Given the description of an element on the screen output the (x, y) to click on. 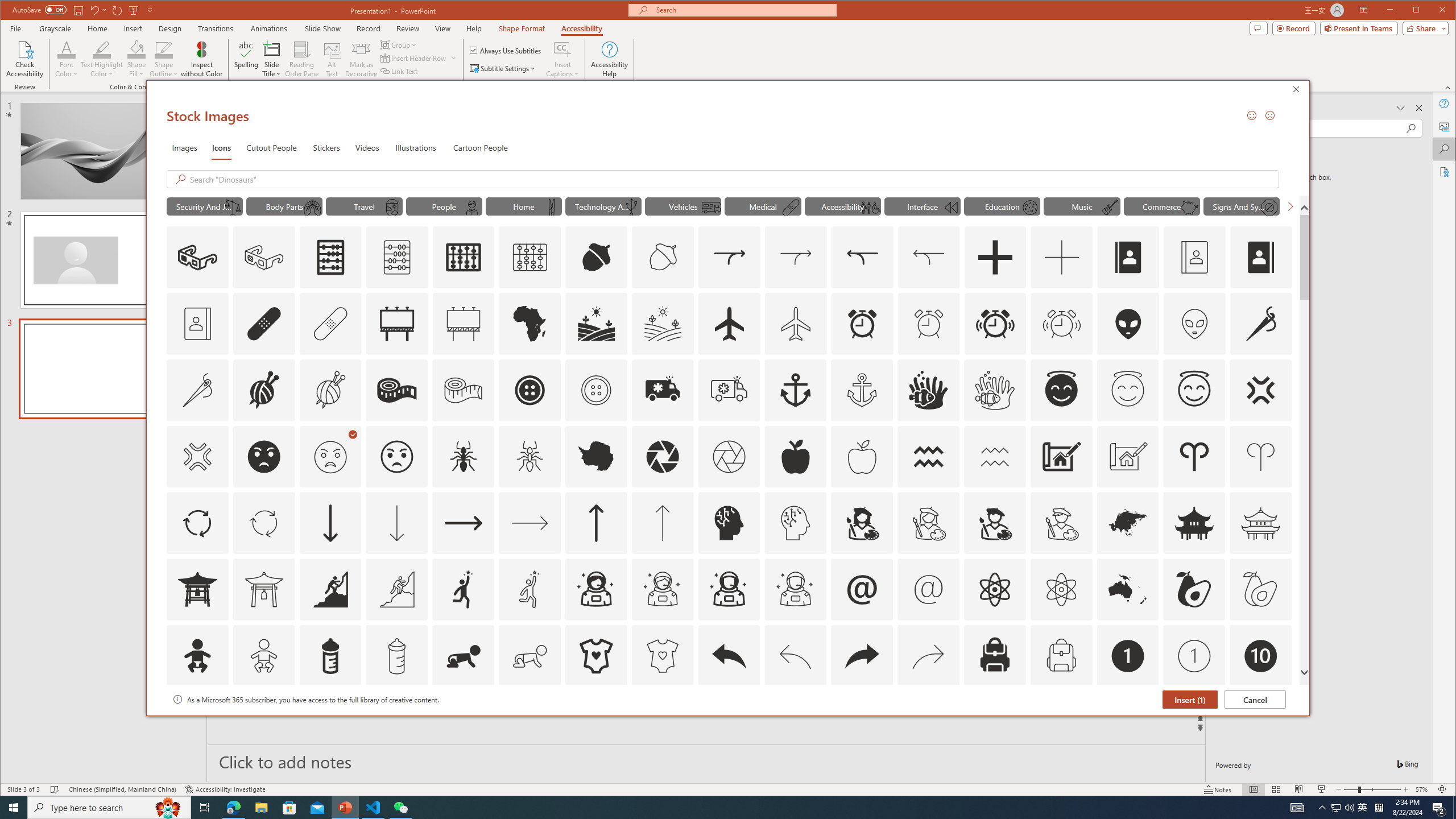
AutomationID: Icons_Badge2_M (330, 721)
Zoom 57% (1422, 789)
AutomationID: Icons_Badge10_M (197, 721)
AutomationID: Icons_AngelFace (1061, 389)
AutomationID: Icons_ArrowDown (330, 522)
AutomationID: Icons_Aspiration1 (462, 589)
AutomationID: Icons_WeightsUneven1_M (232, 207)
AutomationID: Icons_ArrowUp_M (662, 522)
AutomationID: Icons_Anchor_M (861, 389)
AutomationID: Icons_AsianTemple1_M (263, 589)
